Given the description of an element on the screen output the (x, y) to click on. 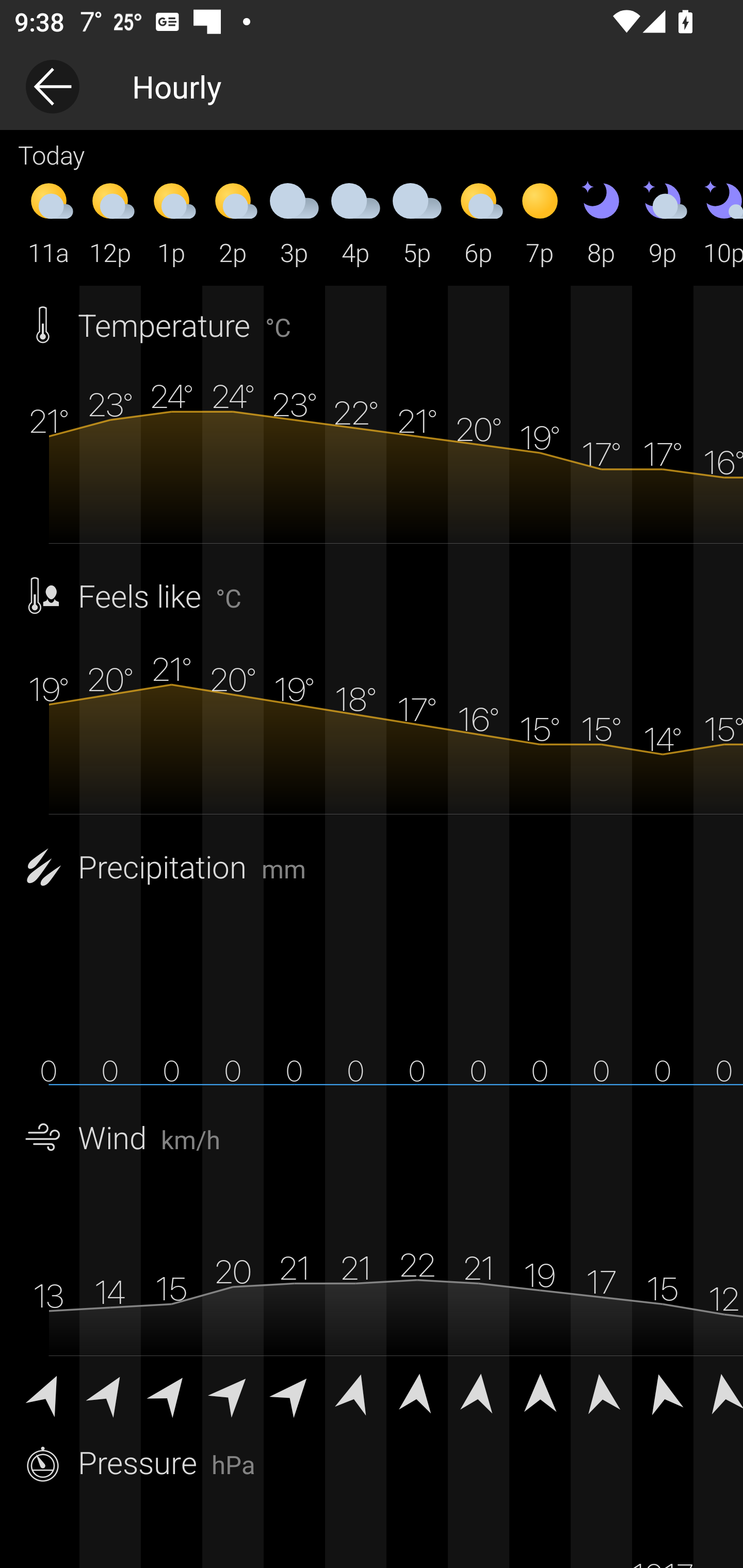
11a (48, 222)
12p (110, 222)
1p (171, 222)
2p (232, 222)
3p (294, 222)
4p (355, 222)
5p (417, 222)
6p (478, 222)
7p (539, 222)
8p (601, 222)
9p (662, 222)
10p (718, 222)
 (48, 1391)
 (110, 1391)
 (171, 1391)
 (232, 1391)
 (294, 1391)
 (355, 1391)
 (417, 1391)
 (478, 1391)
 (539, 1391)
 (601, 1391)
 (662, 1391)
 (718, 1391)
